Given the description of an element on the screen output the (x, y) to click on. 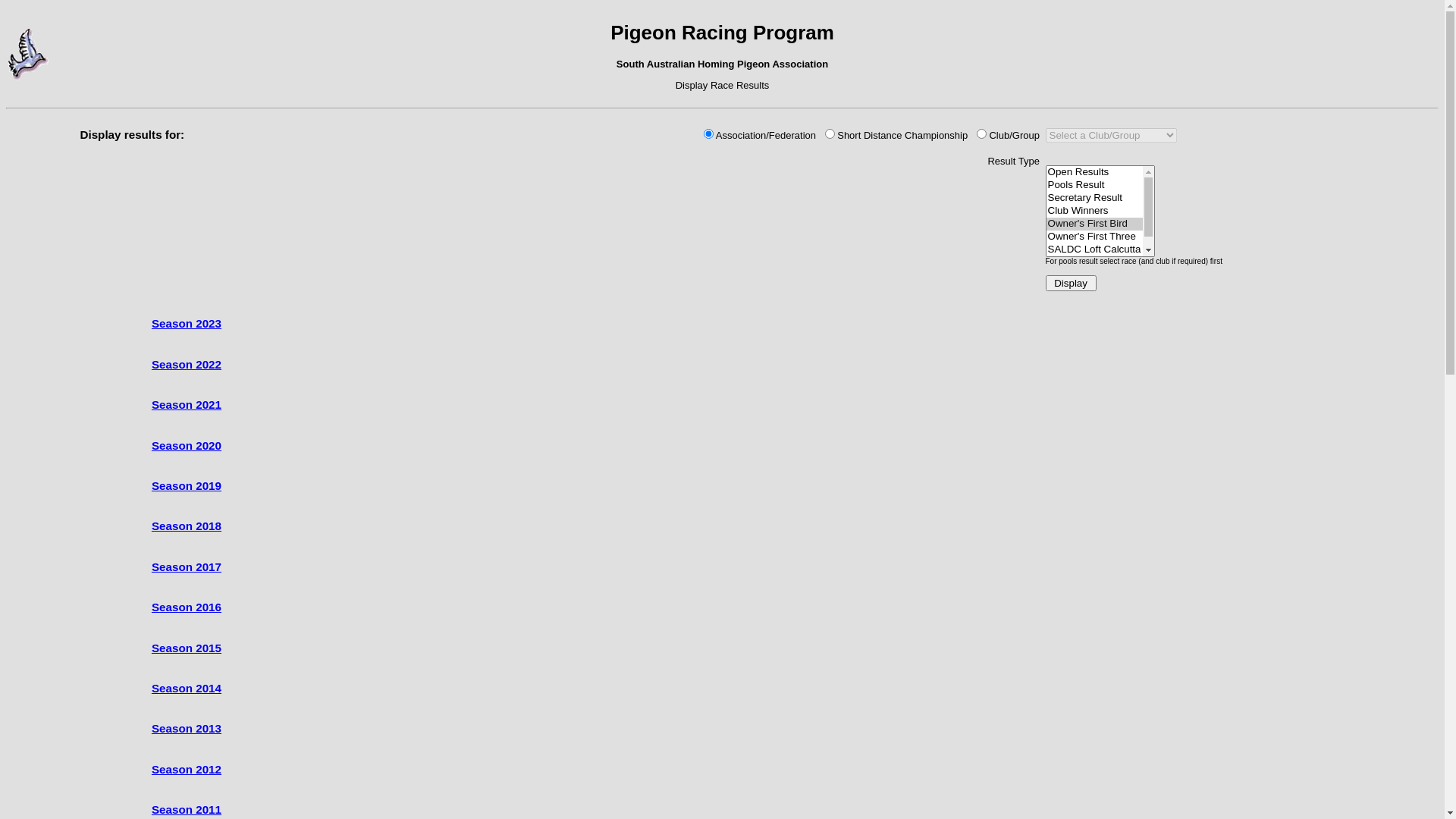
C Element type: text (981, 133)
Season 2023 Element type: text (186, 322)
S Element type: text (829, 133)
Season 2013 Element type: text (186, 727)
Season 2011 Element type: text (186, 809)
Season 2019 Element type: text (186, 485)
Season 2017 Element type: text (186, 566)
Season 2021 Element type: text (186, 404)
Season 2014 Element type: text (186, 687)
Season 2018 Element type: text (186, 525)
A Element type: text (708, 133)
Season 2012 Element type: text (186, 768)
Season 2016 Element type: text (186, 606)
Season 2022 Element type: text (186, 363)
Season 2020 Element type: text (186, 445)
 Display  Element type: text (1070, 283)
Season 2015 Element type: text (186, 647)
